Given the description of an element on the screen output the (x, y) to click on. 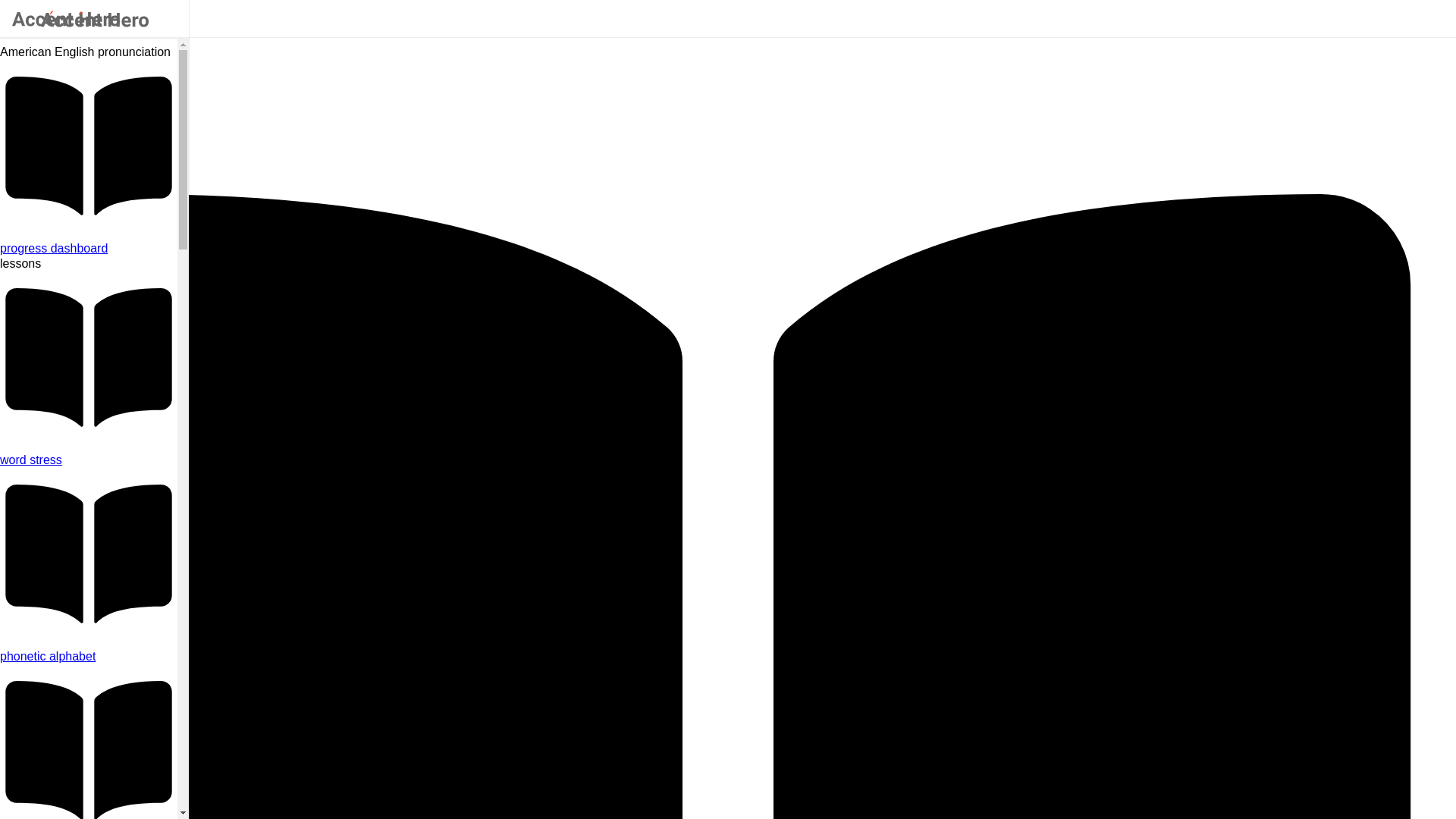
Learn how word stress influences your accent (88, 459)
Learn to precisely articulate each sound (88, 656)
